Given the description of an element on the screen output the (x, y) to click on. 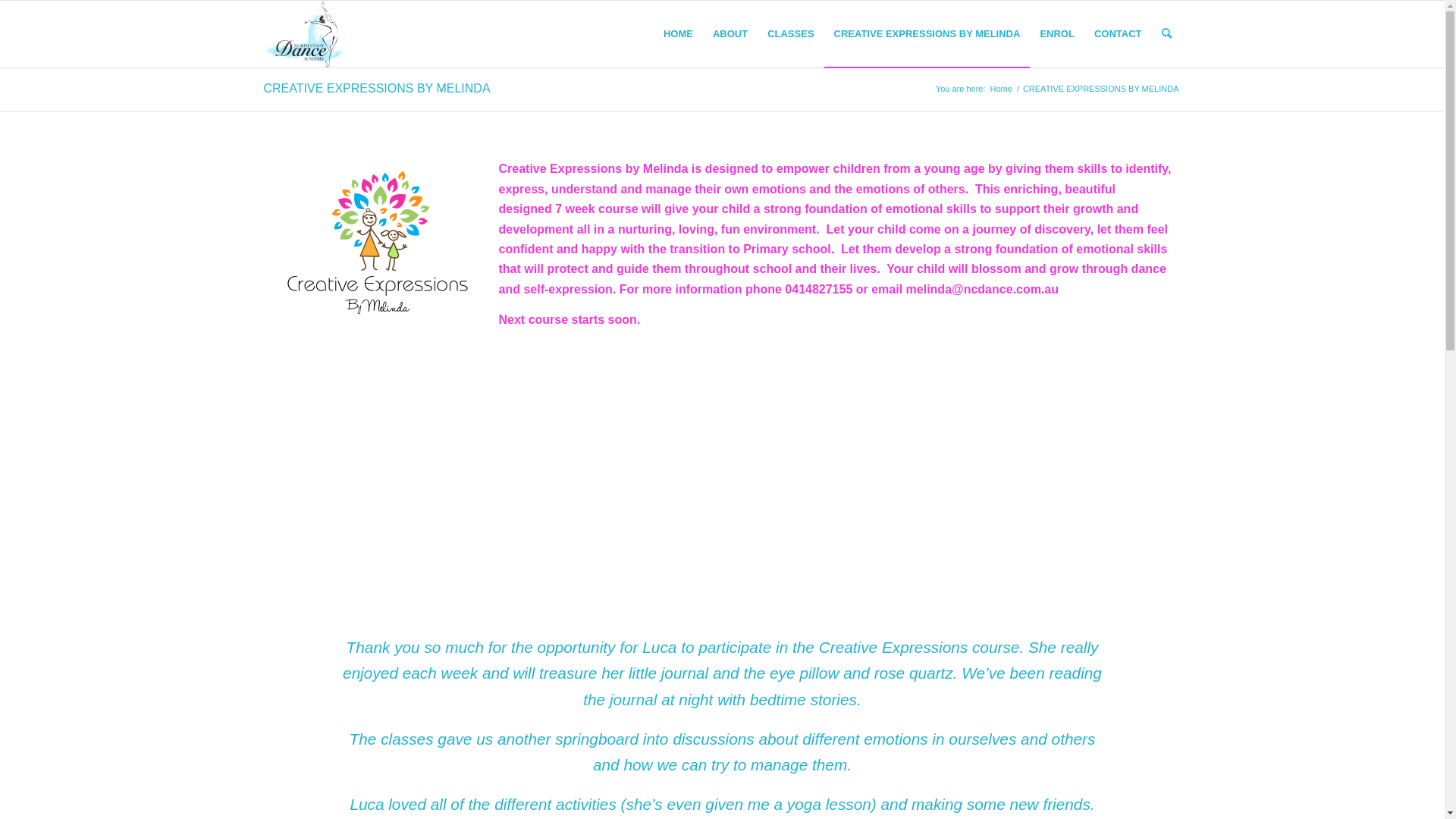
melinda@ncdance.com.au Element type: text (982, 288)
CONTACT Element type: text (1117, 33)
Home Element type: text (1001, 88)
HOME Element type: text (677, 33)
ABOUT Element type: text (729, 33)
CREATIVE EXPRESSIONS BY MELINDA Element type: text (376, 87)
CLASSES Element type: text (790, 33)
ENROL Element type: text (1056, 33)
CREATIVE EXPRESSIONS BY MELINDA Element type: text (927, 33)
